Given the description of an element on the screen output the (x, y) to click on. 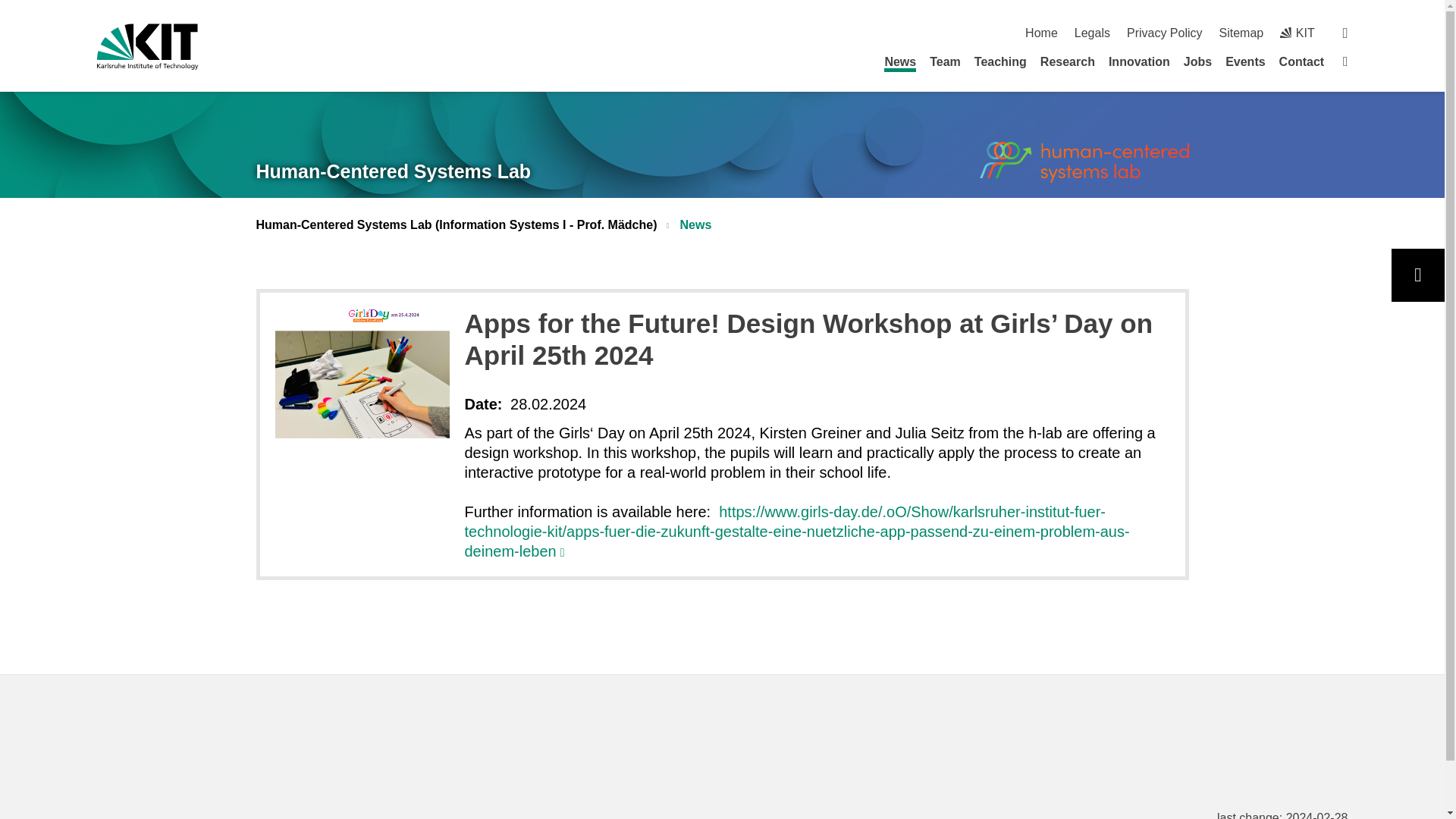
Human-Centered Systems Lab (1084, 161)
Home (1041, 32)
startpage (1041, 32)
Human-Centered Systems Lab (393, 171)
KIT (1296, 32)
search (1345, 32)
search (1345, 32)
Legals (1091, 32)
startpage (1345, 61)
News (899, 63)
Sitemap (1241, 32)
KIT-Homepage (1296, 32)
Team (945, 61)
Privacy Policy (1164, 32)
